Given the description of an element on the screen output the (x, y) to click on. 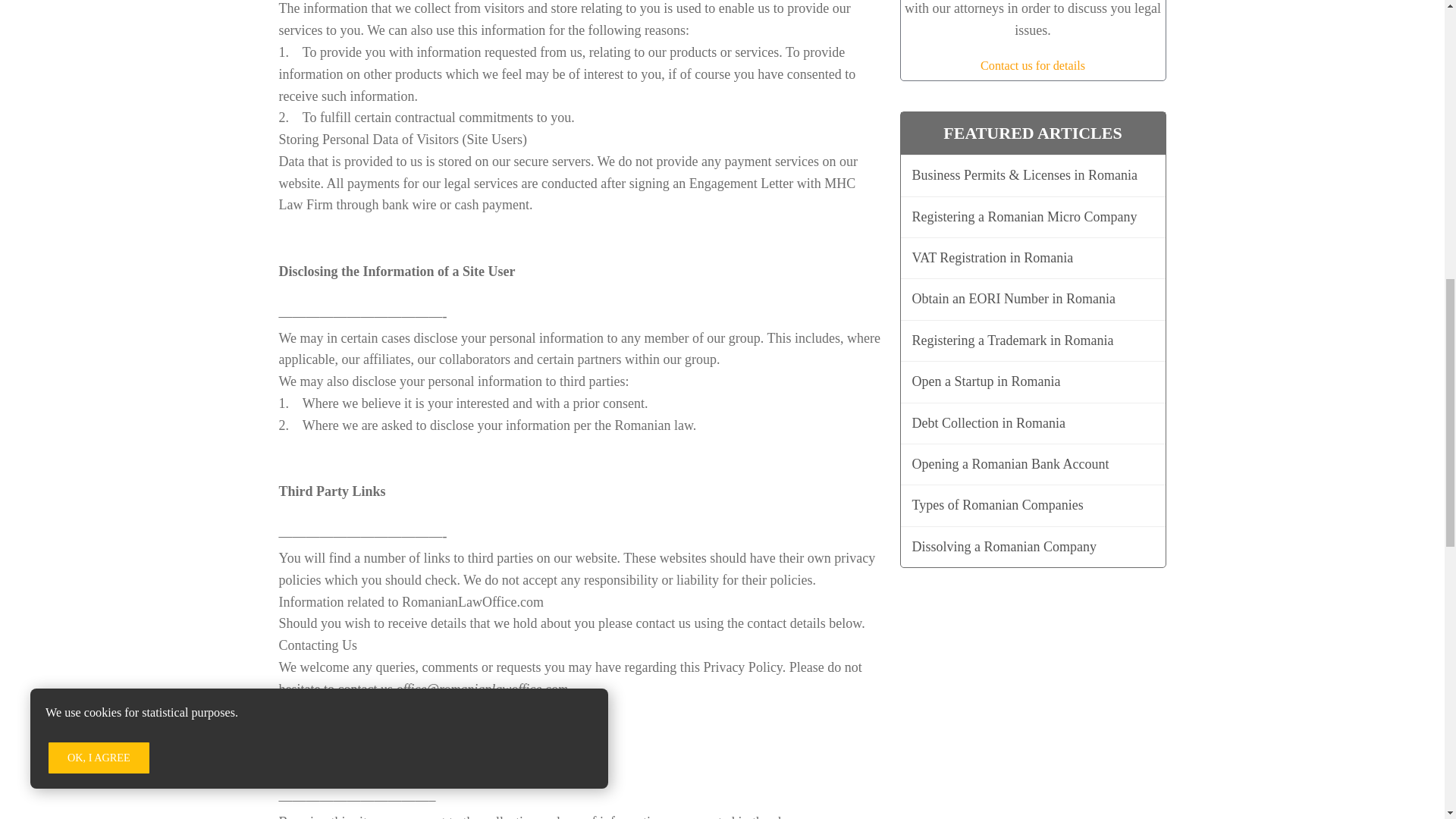
Registering a Trademark in Romania (1032, 340)
Obtain an EORI Number in Romania (1032, 298)
VAT Registration in Romania (1032, 257)
Debt Collection in Romania (1032, 422)
Contact us for details (1031, 65)
Open a Startup in Romania (1032, 381)
Registering a Romanian Micro Company (1032, 217)
